Given the description of an element on the screen output the (x, y) to click on. 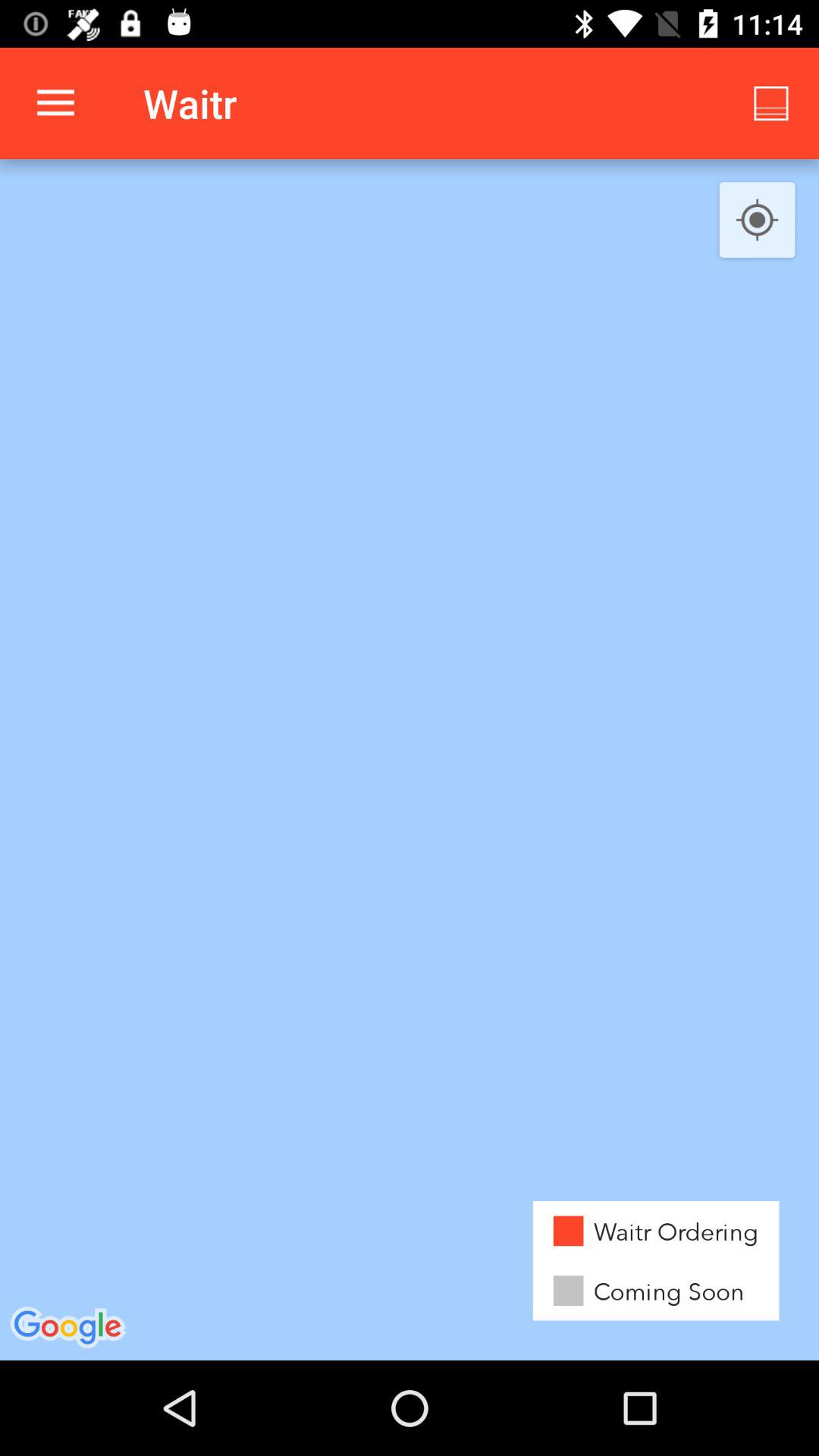
launch app next to waitr item (55, 103)
